Given the description of an element on the screen output the (x, y) to click on. 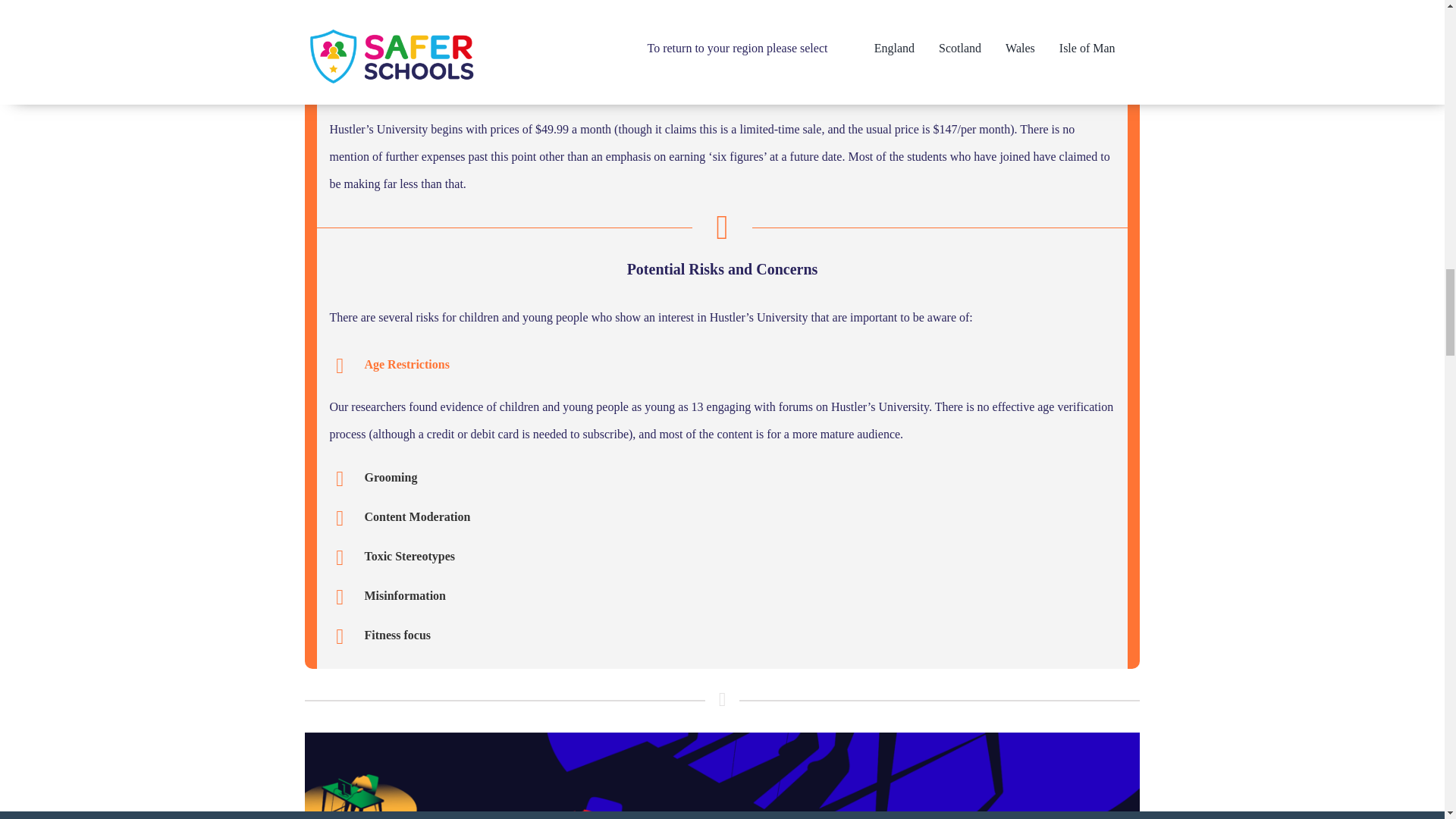
Grooming (722, 478)
Misinformation (722, 597)
Content Moderation (722, 518)
Age Restrictions (722, 365)
Toxic Stereotypes (722, 558)
Fitness focus (722, 636)
